Given the description of an element on the screen output the (x, y) to click on. 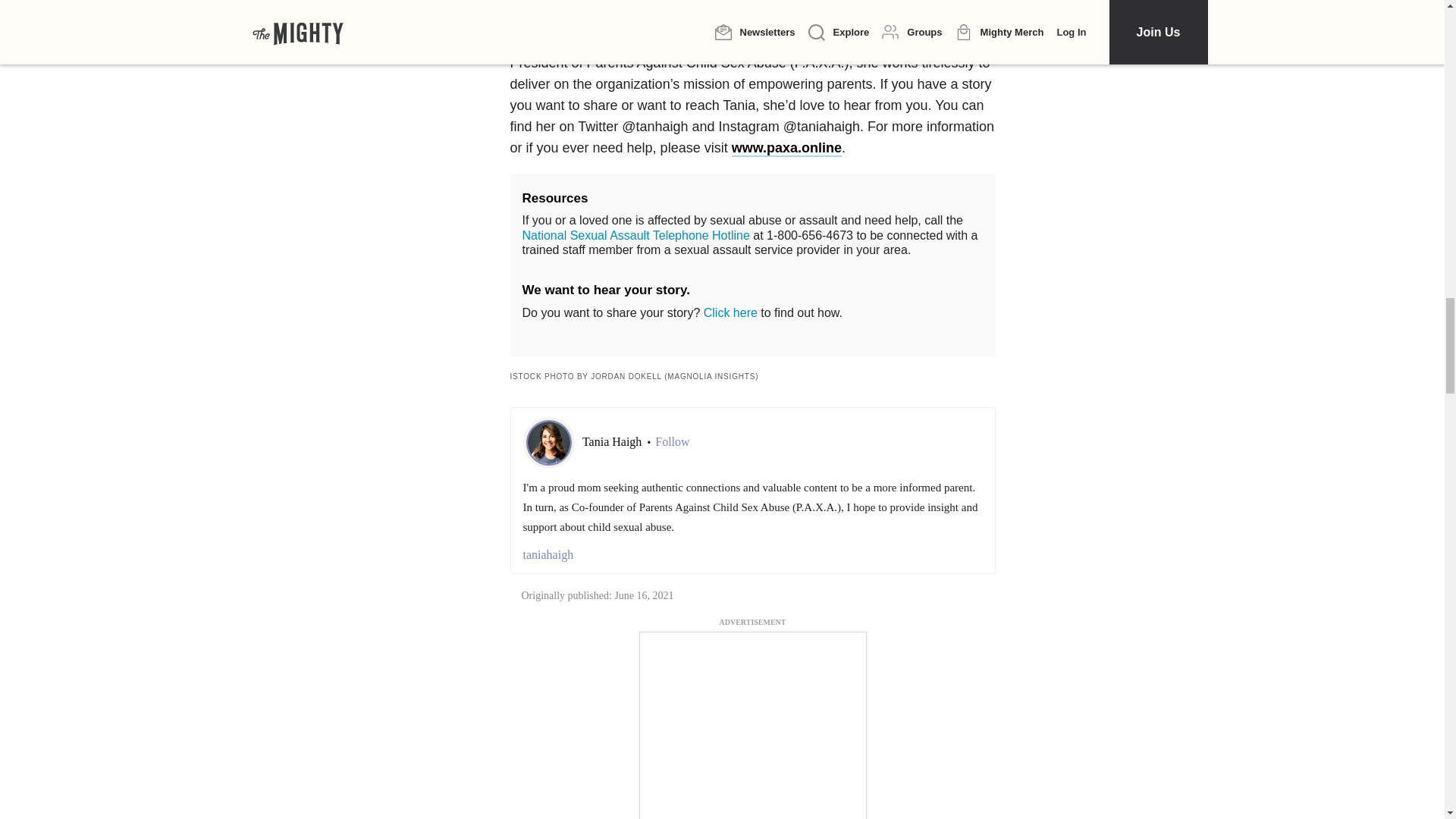
Click here (730, 312)
Follow (671, 441)
National Sexual Assault Telephone Hotline (635, 235)
Tania Haigh (613, 440)
www.paxa.online (786, 148)
well-being of a child (747, 7)
